Given the description of an element on the screen output the (x, y) to click on. 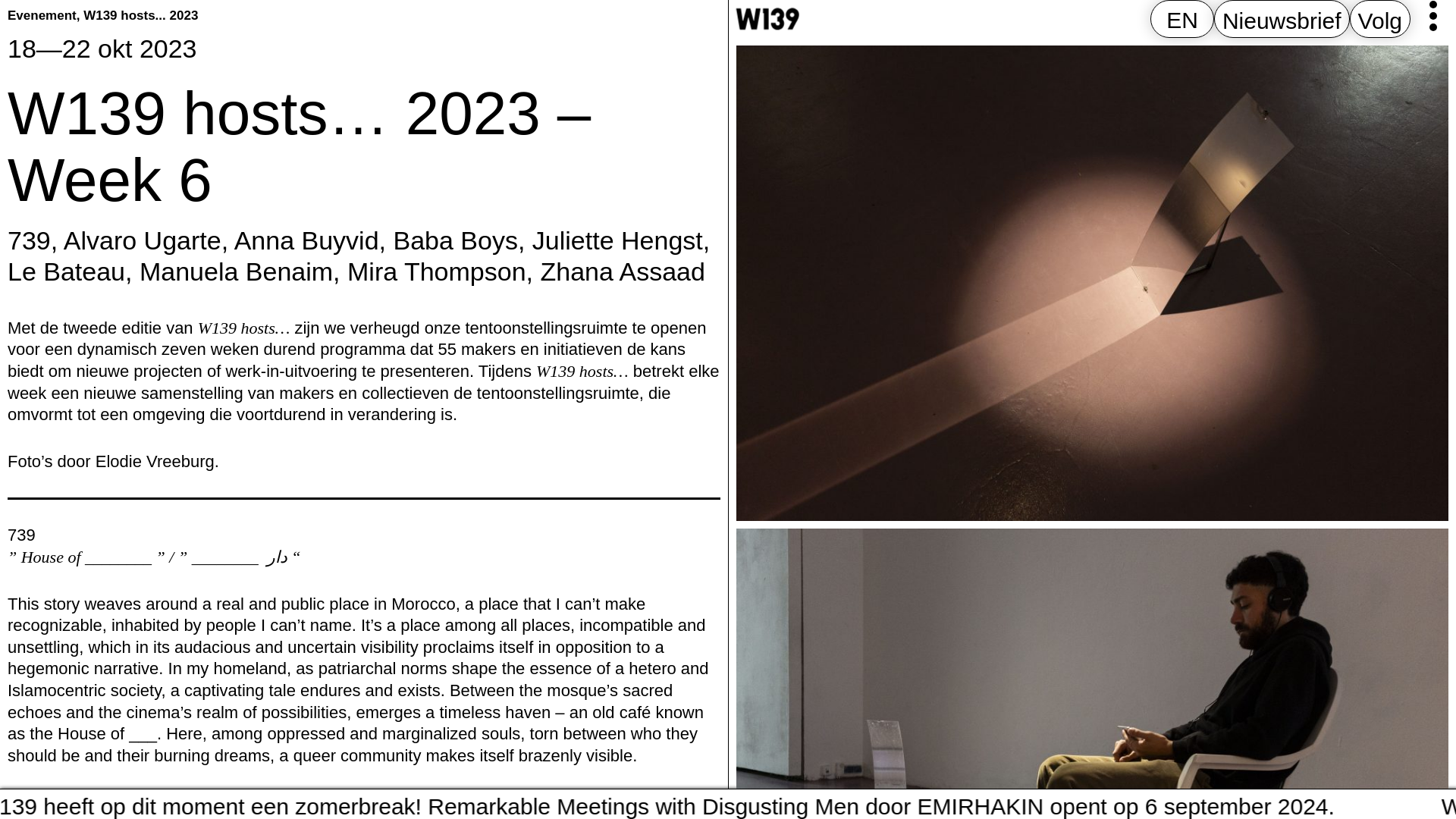
Juliette Hengst (617, 240)
739 (28, 240)
Alvaro Ugarte (142, 240)
Manuela Benaim (236, 271)
Mira Thompson (436, 271)
Baba Boys (454, 240)
Anna Buyvid (306, 240)
Volg (1380, 20)
Zhana Assaad (622, 271)
EN (1181, 20)
Primary Menu (1433, 15)
Le Bateau (66, 271)
Nieuwsbrief (1281, 20)
